Given the description of an element on the screen output the (x, y) to click on. 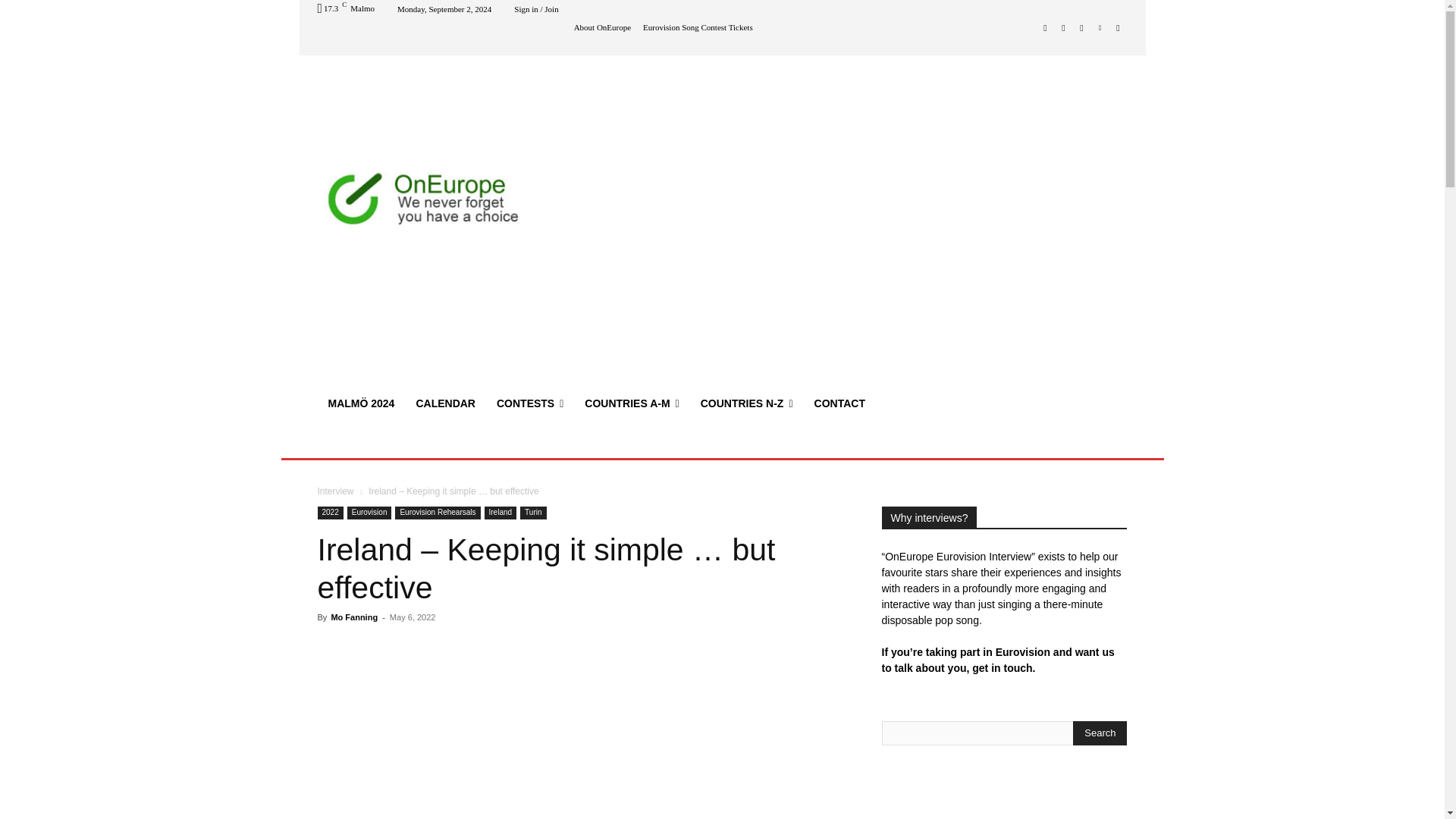
Vimeo (1099, 27)
Oneurope (425, 202)
Twitter (1080, 27)
Search (1099, 733)
Youtube (1117, 27)
Instagram (1062, 27)
Facebook (1044, 27)
